Given the description of an element on the screen output the (x, y) to click on. 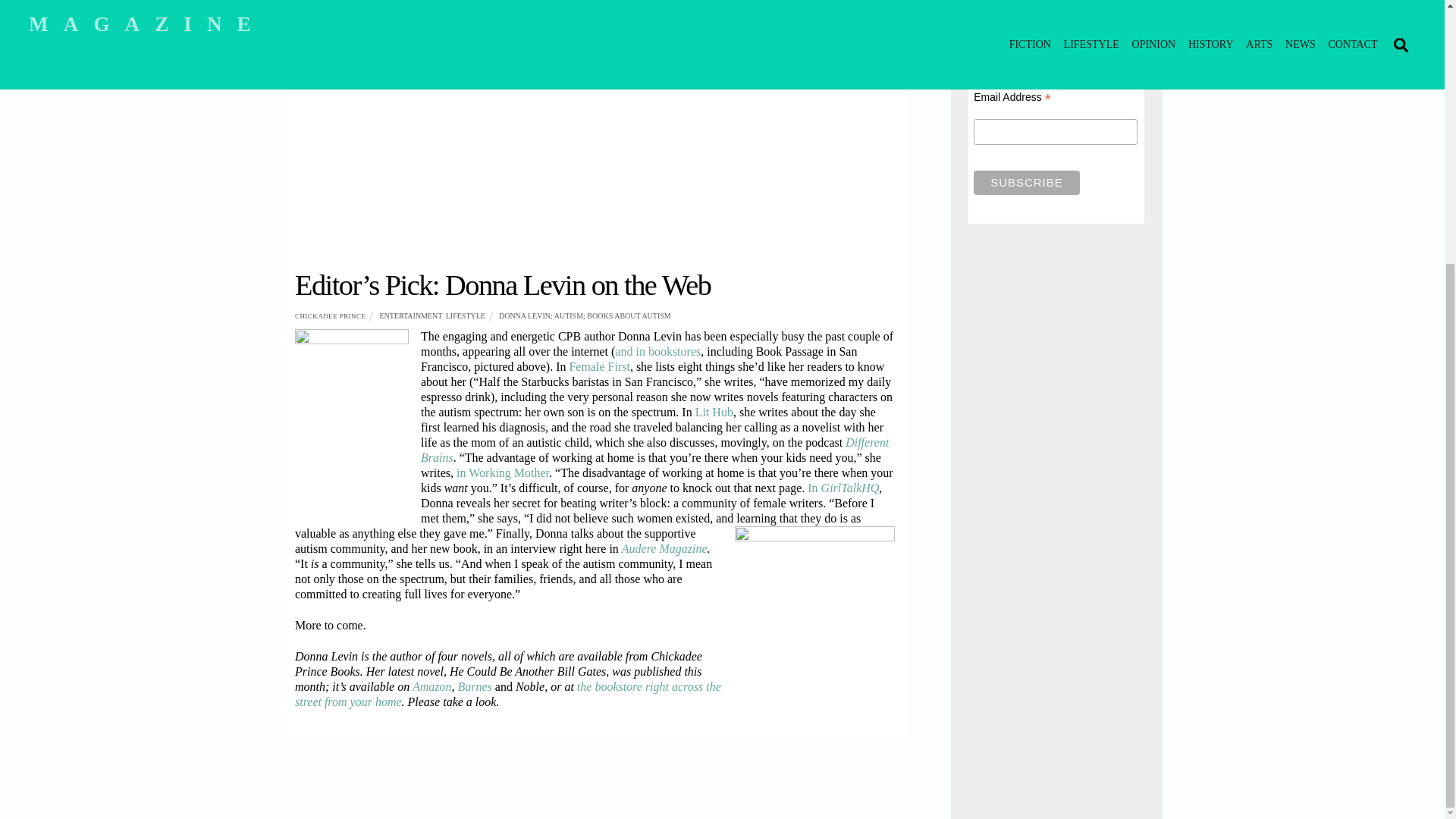
Different Brains (654, 449)
Barnes (476, 686)
LIFESTYLE (464, 316)
DONNA LEVIN; AUTISM; BOOKS ABOUT AUTISM (585, 316)
CHICKADEE PRINCE (330, 316)
in Working Mother (502, 472)
Subscribe (1026, 182)
In GirlTalkHQ (843, 487)
and in bookstores (657, 350)
the bookstore right across the street from your home (507, 694)
Amazon (431, 686)
Lit Hub (714, 411)
Audere Magazine (664, 548)
Screen Shot 2018-10-27 at 3.34.24 PM (595, 110)
Female First (598, 366)
